Given the description of an element on the screen output the (x, y) to click on. 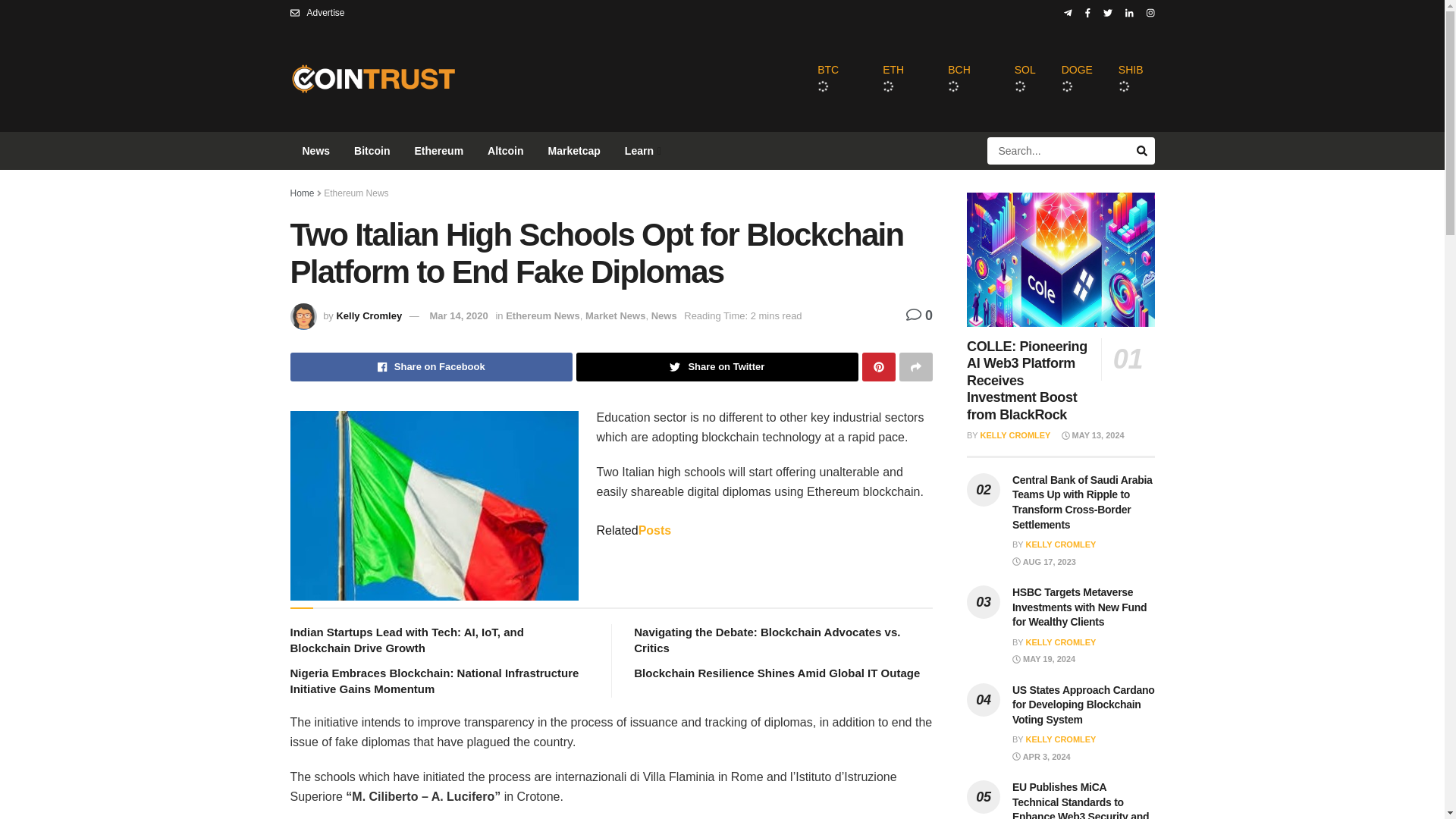
DOGE (1077, 79)
Advertise (316, 12)
Learn (641, 150)
Marketcap (573, 150)
Bitcoin (371, 150)
News (315, 150)
Ethereum (439, 150)
Altcoin (505, 150)
